Given the description of an element on the screen output the (x, y) to click on. 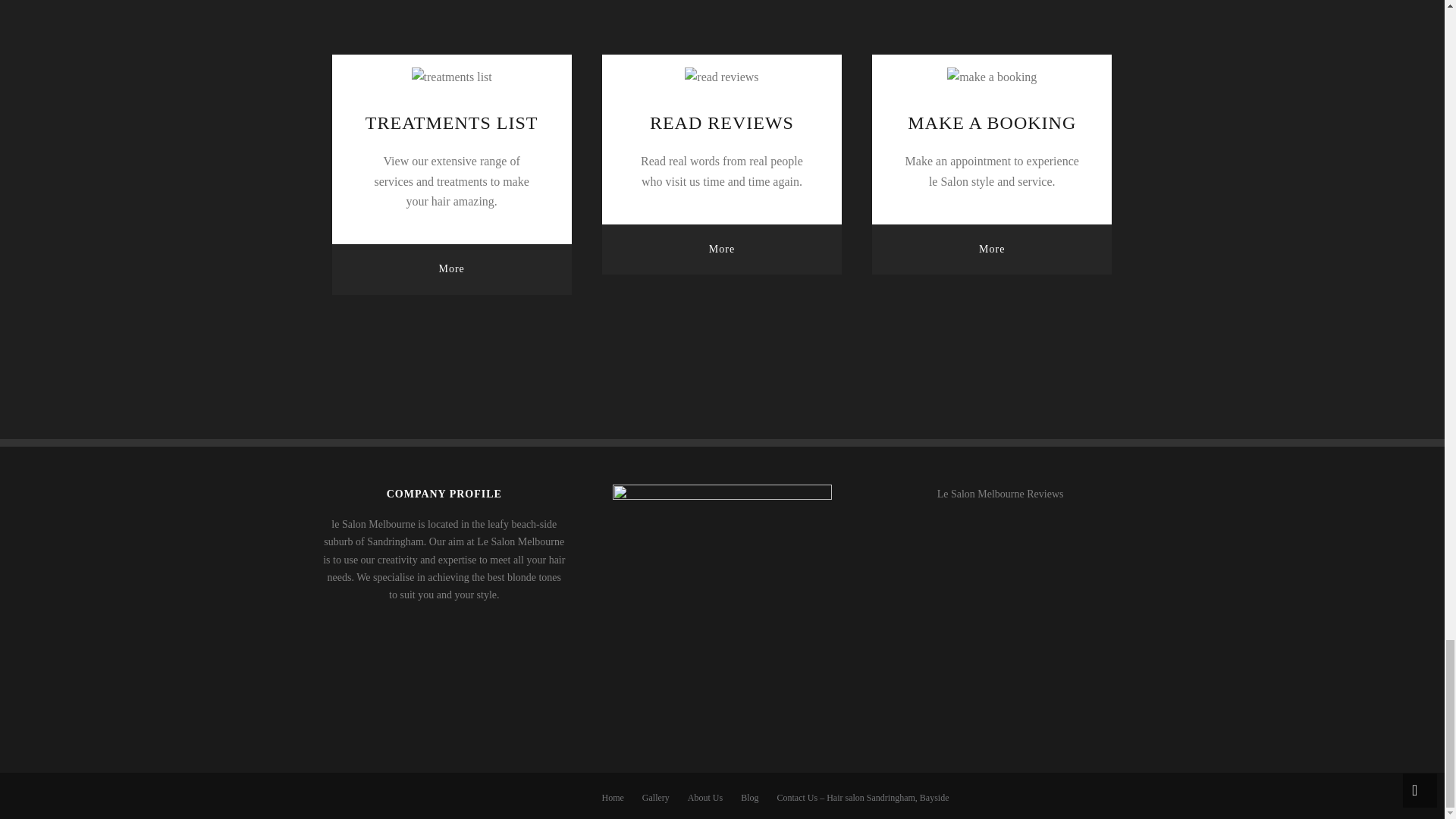
More (721, 249)
Home (613, 797)
Gallery (655, 797)
About Us (704, 797)
More (992, 249)
Blog (749, 797)
More (451, 269)
